Given the description of an element on the screen output the (x, y) to click on. 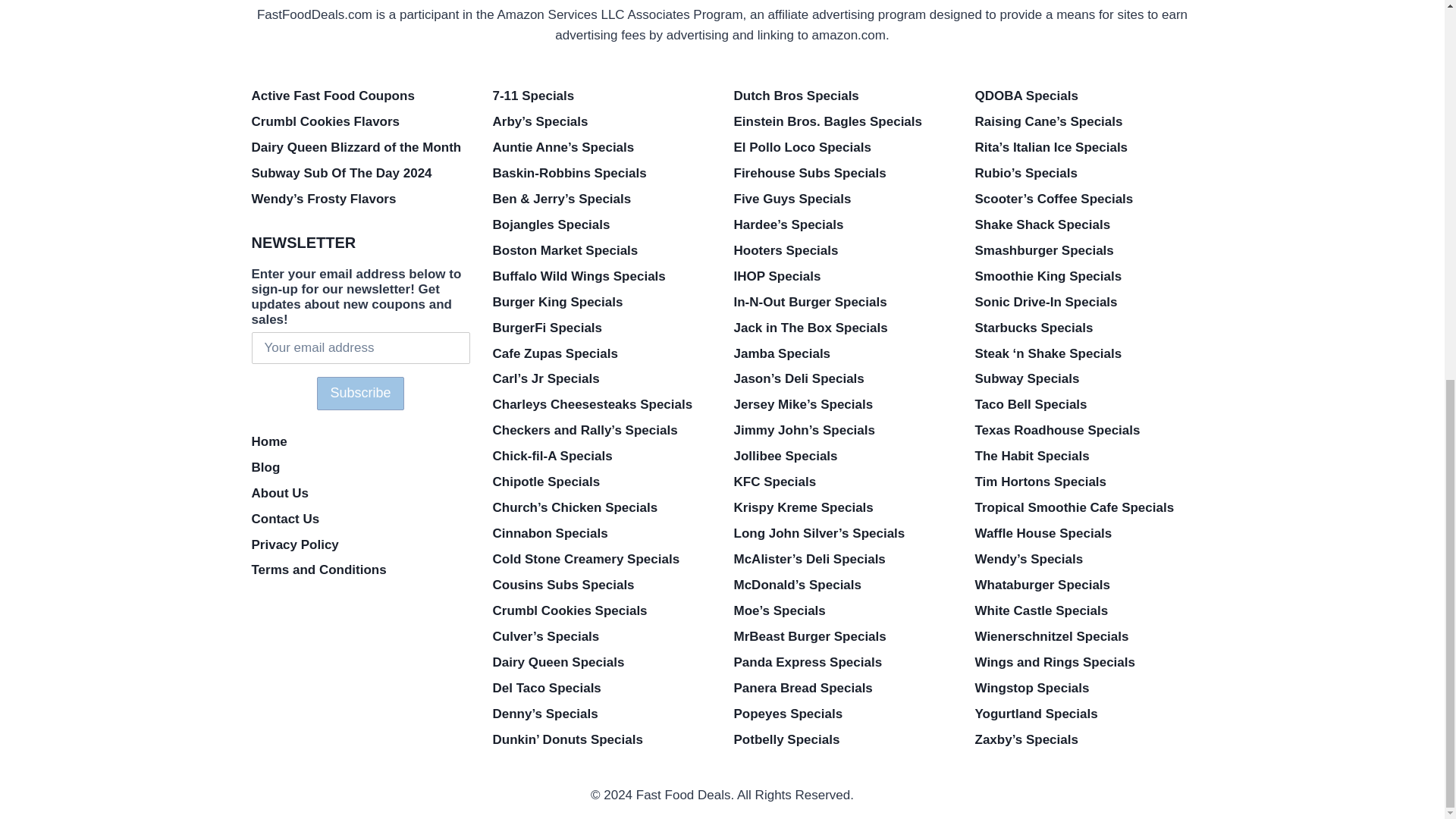
Blog (360, 467)
Boston Market Specials (602, 250)
Active Fast Food Coupons (360, 95)
Terms and Conditions (360, 570)
Crumbl Cookies Flavors (360, 121)
7-11 Specials (602, 95)
Subscribe (360, 393)
Buffalo Wild Wings Specials (602, 276)
Subway Sub Of The Day 2024 (360, 173)
Bojangles Specials (602, 225)
About Us (360, 493)
Baskin-Robbins Specials (602, 173)
Dairy Queen Blizzard of the Month (360, 147)
Home (360, 442)
Privacy Policy (360, 544)
